Given the description of an element on the screen output the (x, y) to click on. 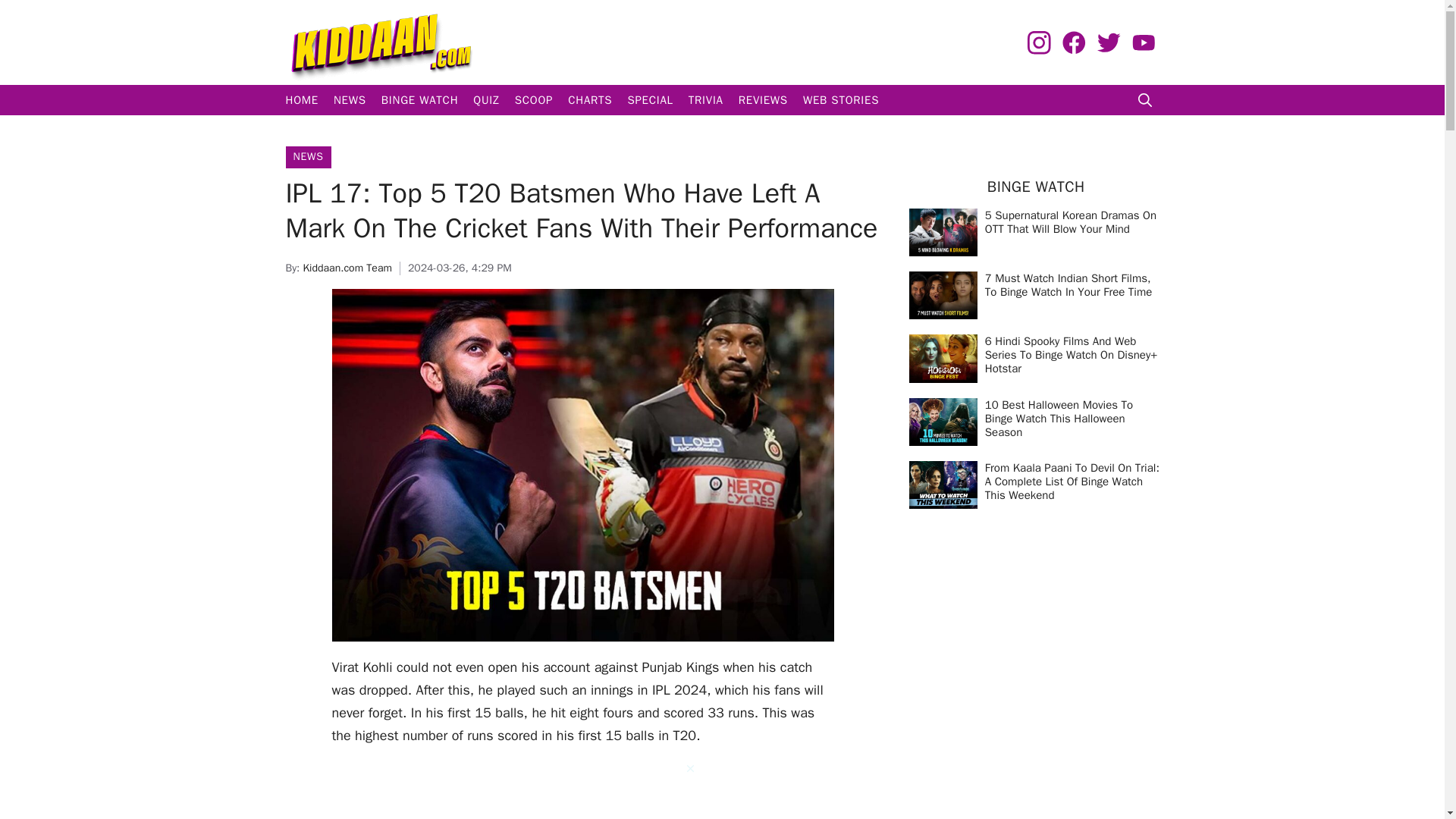
CHARTS (590, 100)
NEWS (307, 155)
SCOOP (533, 100)
WEB STORIES (840, 100)
3rd party ad content (582, 790)
NEWS (350, 100)
BINGE WATCH (419, 100)
SPECIAL (649, 100)
